Given the description of an element on the screen output the (x, y) to click on. 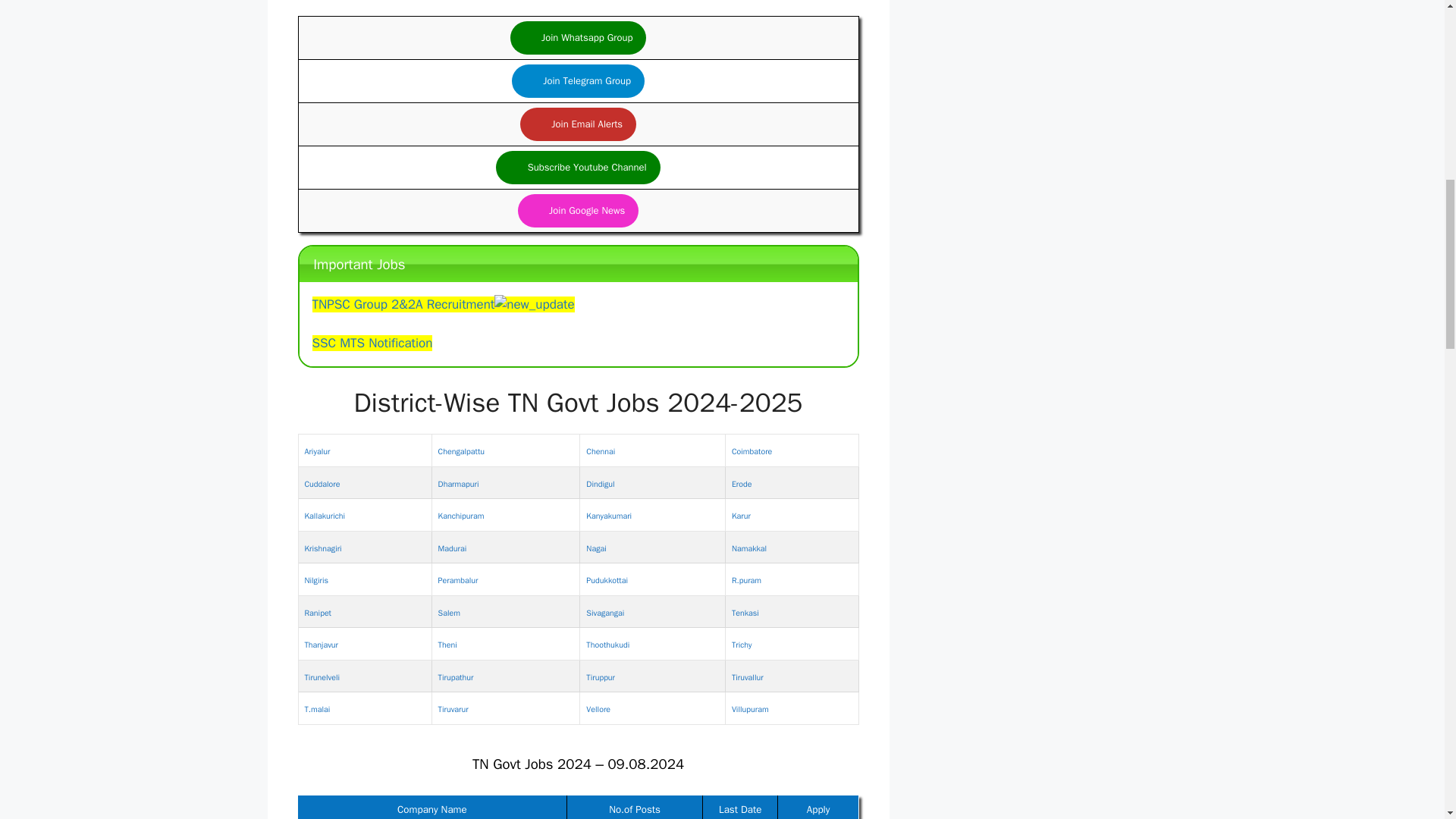
Join Telegram Group (578, 80)
Join Google News (578, 210)
Subscribe Youtube channel (577, 167)
Join Whatsapp Group (578, 37)
Join Email Alerts (577, 123)
